Given the description of an element on the screen output the (x, y) to click on. 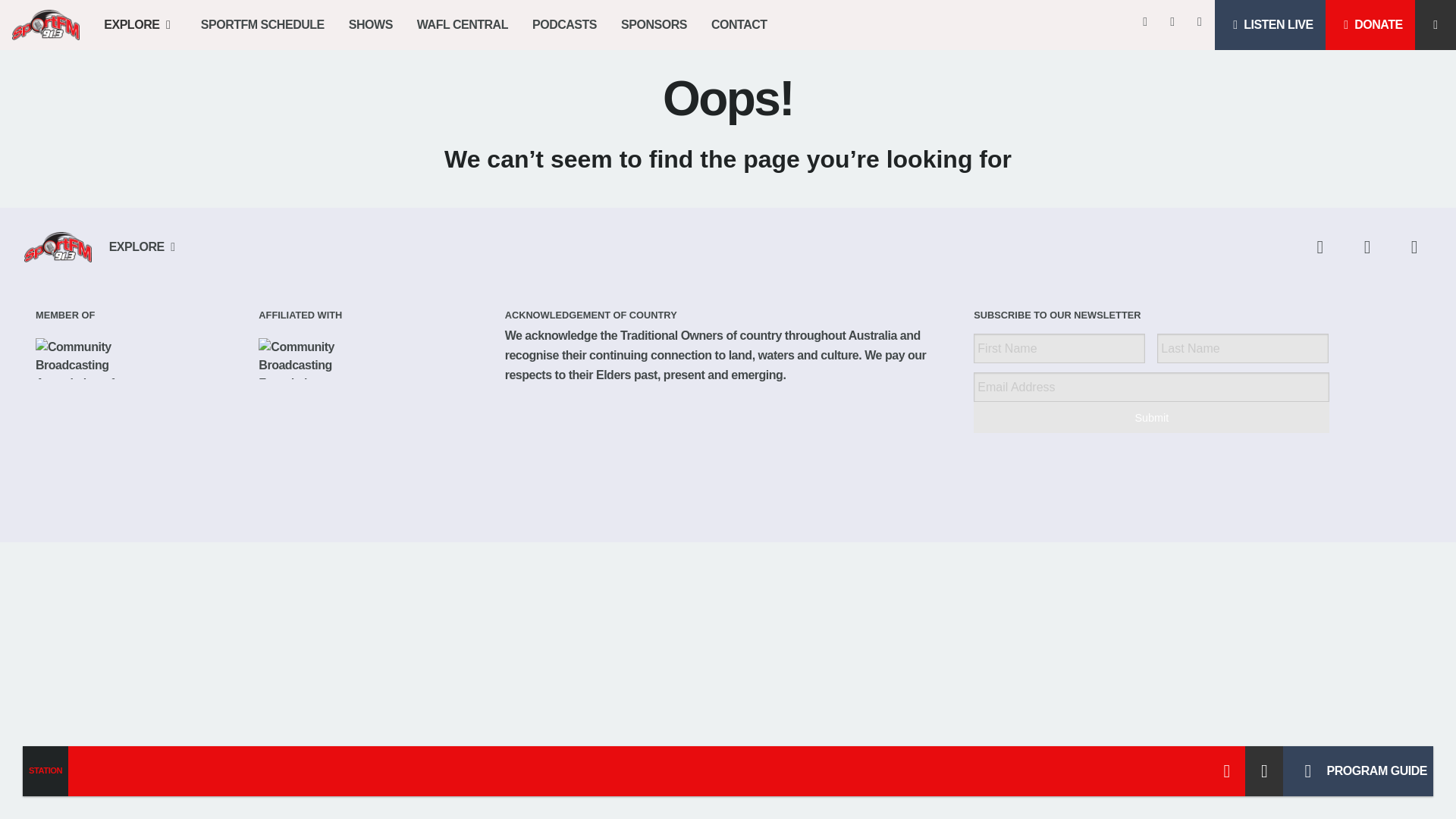
CONTACT (738, 24)
EXPLORE (139, 24)
SHOWS (370, 24)
DONATE (1369, 24)
LISTEN LIVE (1269, 24)
SPONSORS (653, 24)
PODCASTS (563, 24)
Submit (1151, 417)
SPORTFM SCHEDULE (262, 24)
WAFL CENTRAL (461, 24)
